Given the description of an element on the screen output the (x, y) to click on. 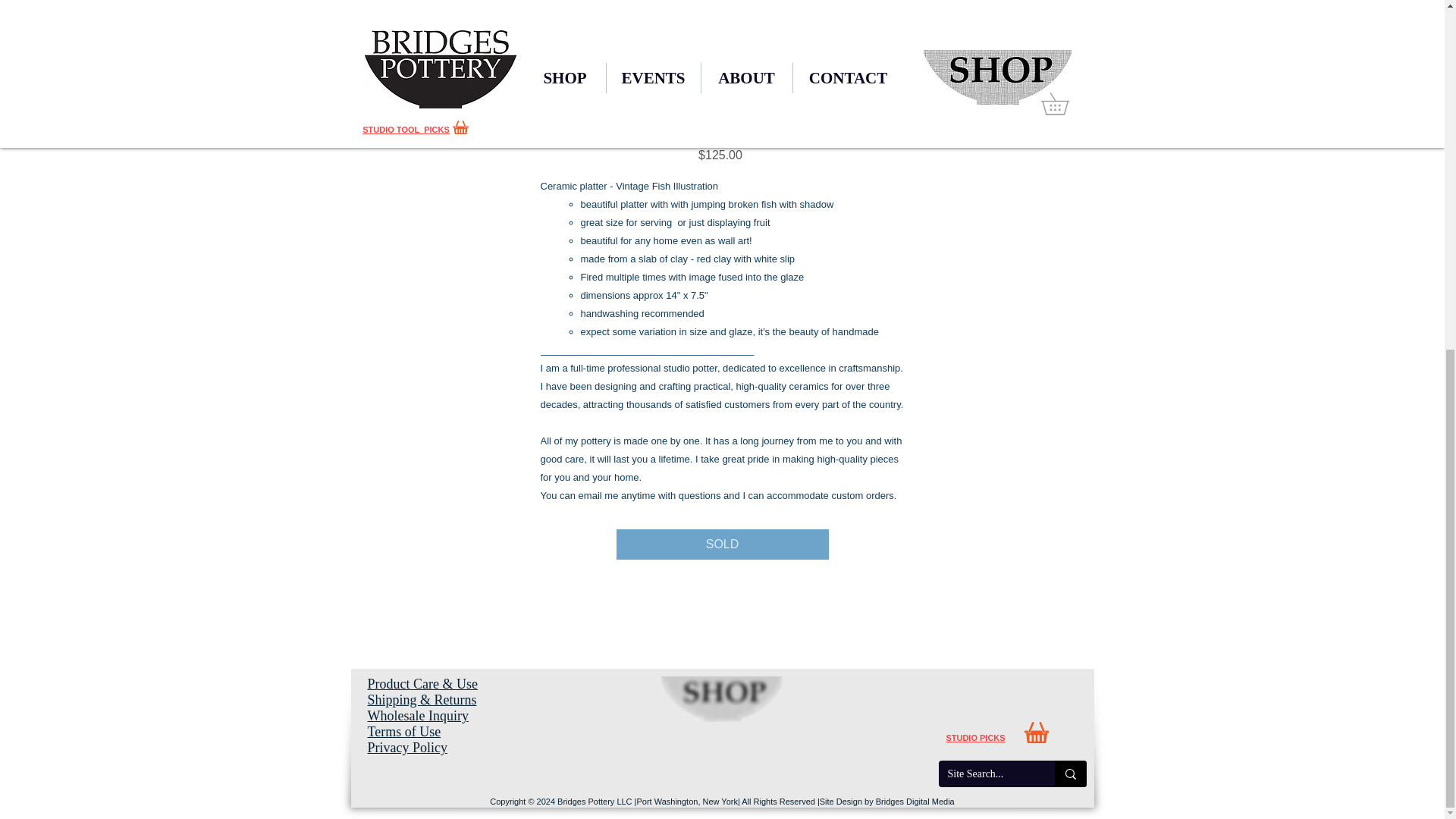
Terms of Use (403, 731)
SOLD (721, 544)
Wholesale Inquiry (416, 715)
